Given the description of an element on the screen output the (x, y) to click on. 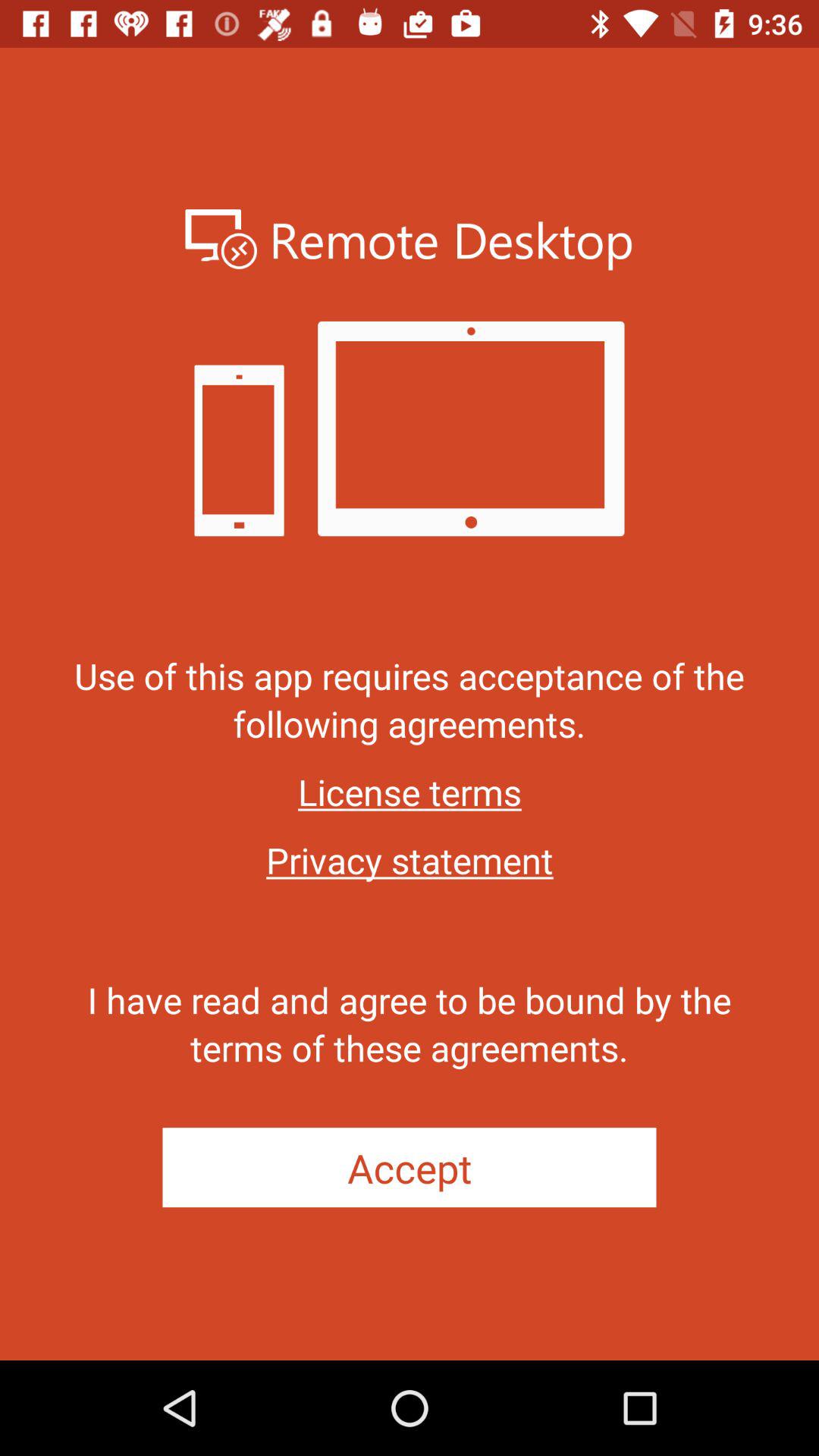
press privacy statement (409, 860)
